Given the description of an element on the screen output the (x, y) to click on. 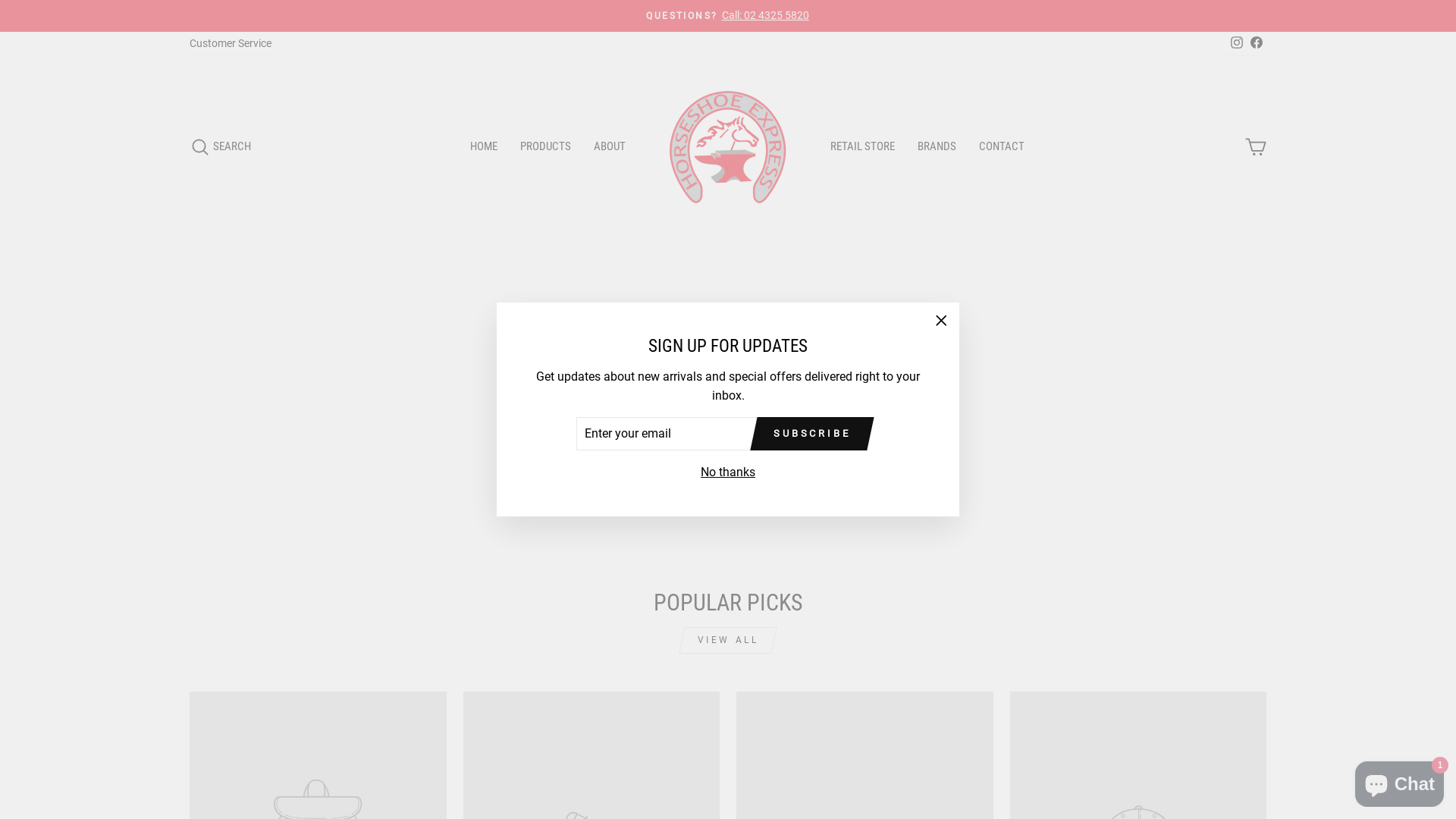
Shopify online store chat Element type: hover (1399, 780)
VIEW ALL Element type: text (728, 640)
HOME Element type: text (483, 146)
CONTACT Element type: text (1001, 146)
Customer Service Element type: text (230, 43)
SUBSCRIBE Element type: text (812, 433)
No thanks Element type: text (727, 472)
BRANDS Element type: text (936, 146)
RETAIL STORE Element type: text (862, 146)
SEARCH
SEARCH Element type: text (220, 146)
ABOUT Element type: text (609, 146)
Instagram Element type: text (1236, 43)
Continue shopping Element type: text (727, 429)
QUALITY HORSESHOES SPECIALCLICK HERE Element type: text (727, 15)
"Close (esc)" Element type: text (940, 320)
CART Element type: text (1255, 146)
Facebook Element type: text (1256, 43)
PRODUCTS Element type: text (545, 146)
Skip to content Element type: text (0, 0)
